Given the description of an element on the screen output the (x, y) to click on. 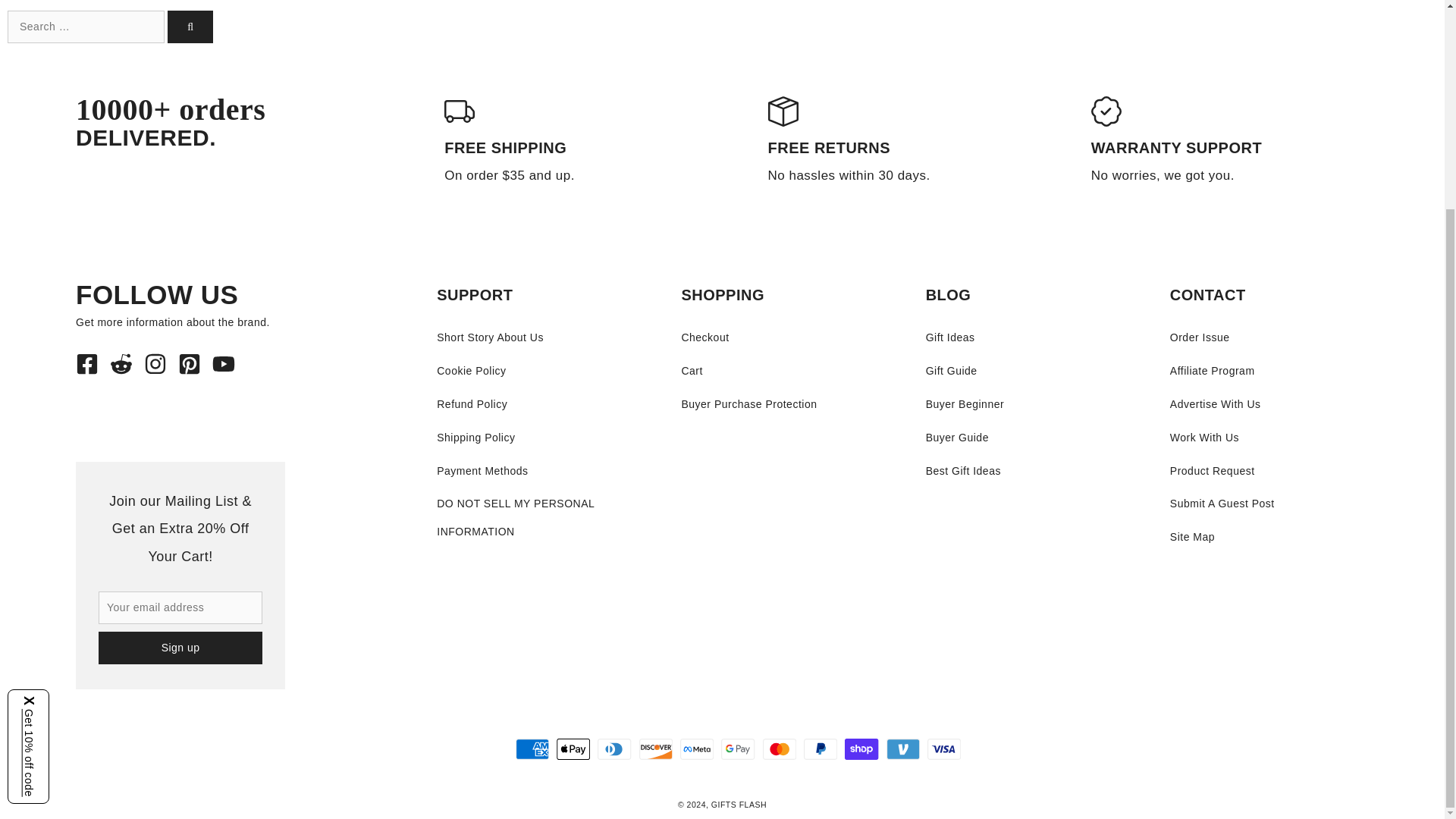
Apple Pay (572, 749)
Discover (655, 749)
PayPal (820, 749)
American Express (531, 749)
Meta Pay (696, 749)
Shop Pay (860, 749)
Diners Club (613, 749)
Visa (943, 749)
Venmo (903, 749)
Search for: (85, 26)
Google Pay (737, 749)
Sign up (180, 647)
Mastercard (779, 749)
